Given the description of an element on the screen output the (x, y) to click on. 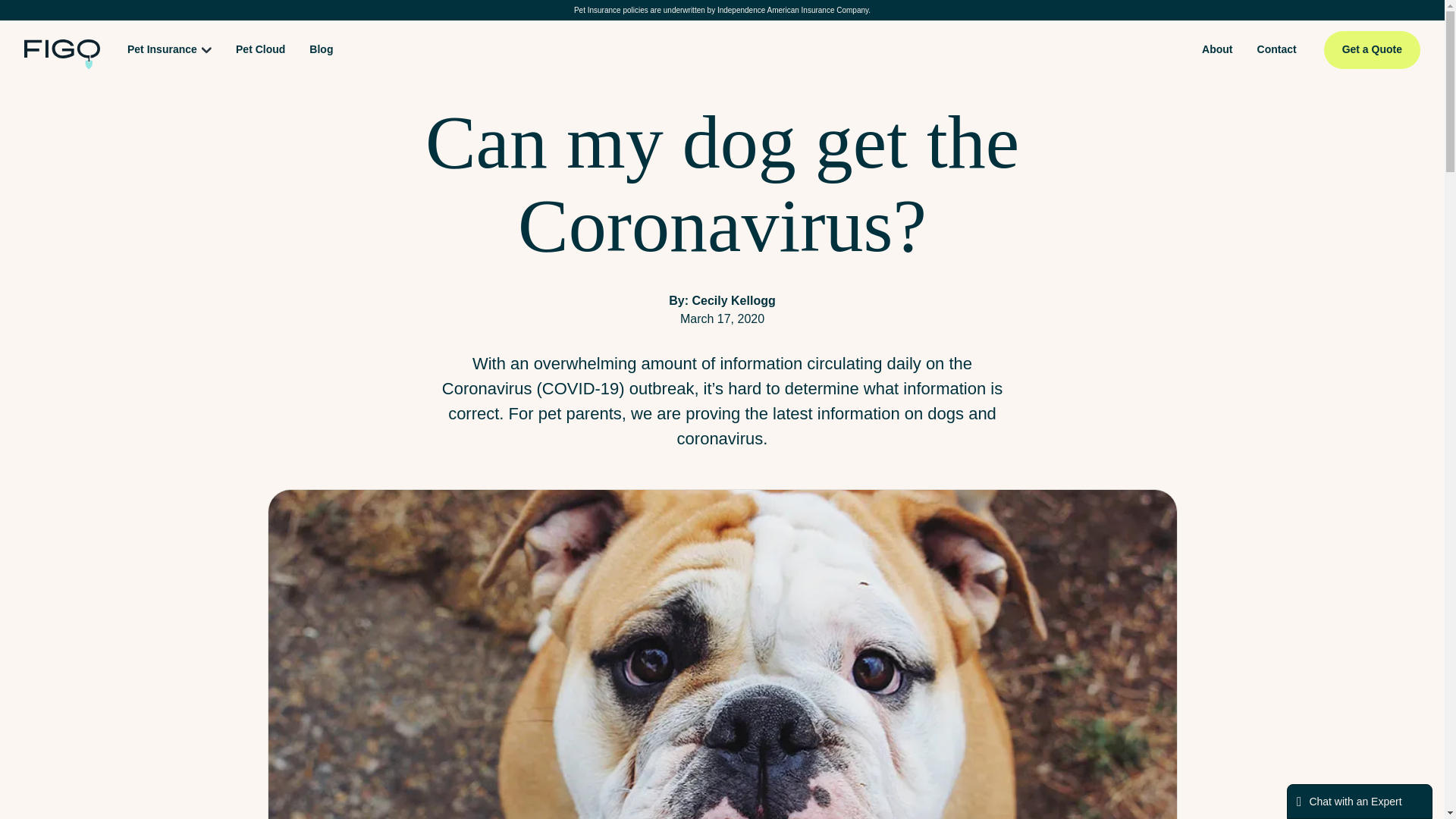
Contact (1276, 49)
Get a Quote (1372, 48)
Blog (321, 49)
Pet Insurance (162, 52)
About (1216, 49)
Pet Cloud (260, 49)
